Given the description of an element on the screen output the (x, y) to click on. 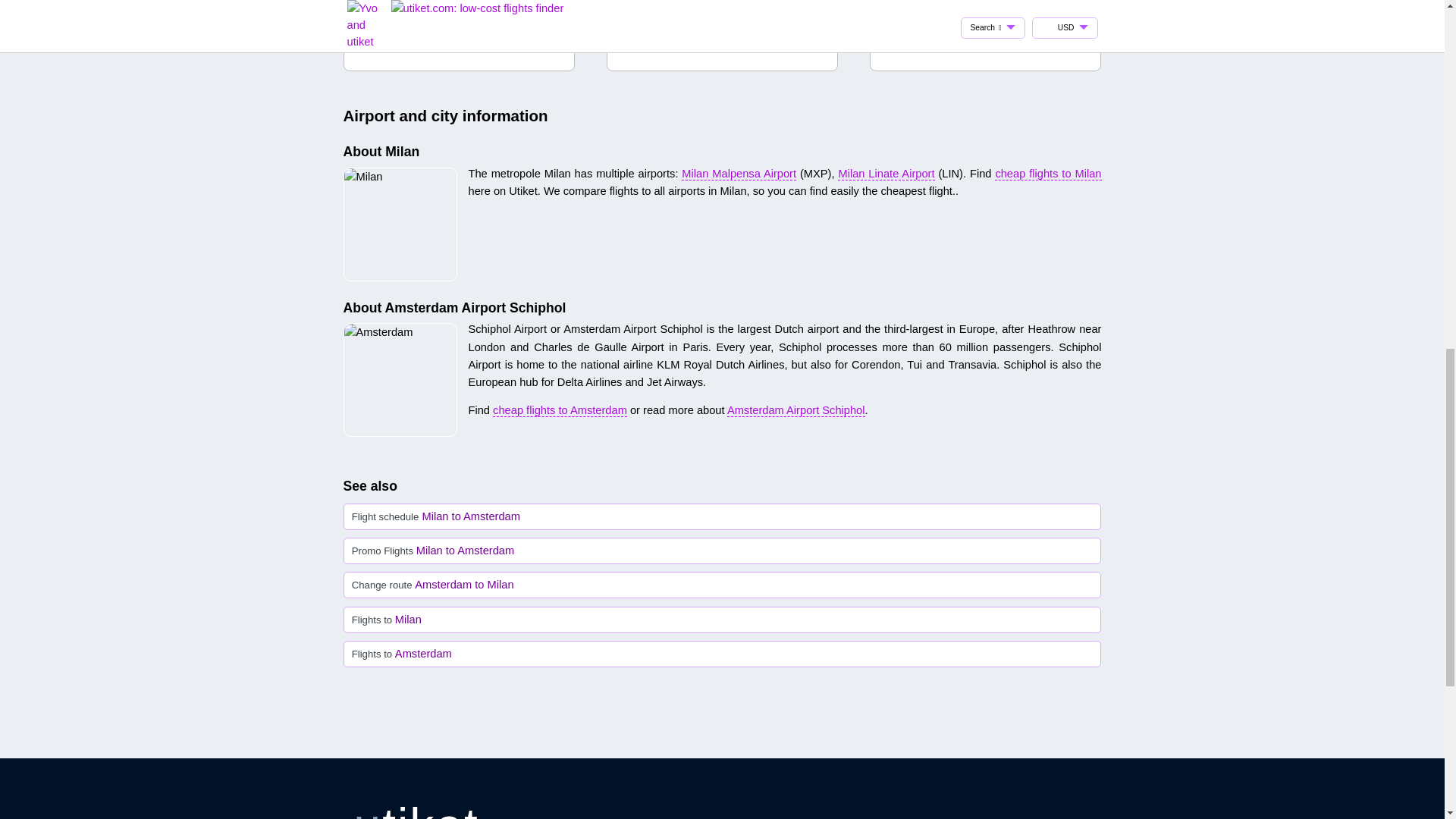
Promo Flights Milan to Amsterdam (721, 550)
Flights to Amsterdam (721, 653)
cheap flights to Milan (1047, 173)
Change route Amsterdam to Milan (721, 584)
Milan Malpensa Airport (738, 173)
Flight schedule Milan to Amsterdam (721, 516)
cheap flights to Amsterdam (560, 410)
Amsterdam Airport Schiphol (795, 410)
Flights to Milan (721, 618)
Milan Linate Airport (886, 173)
